Given the description of an element on the screen output the (x, y) to click on. 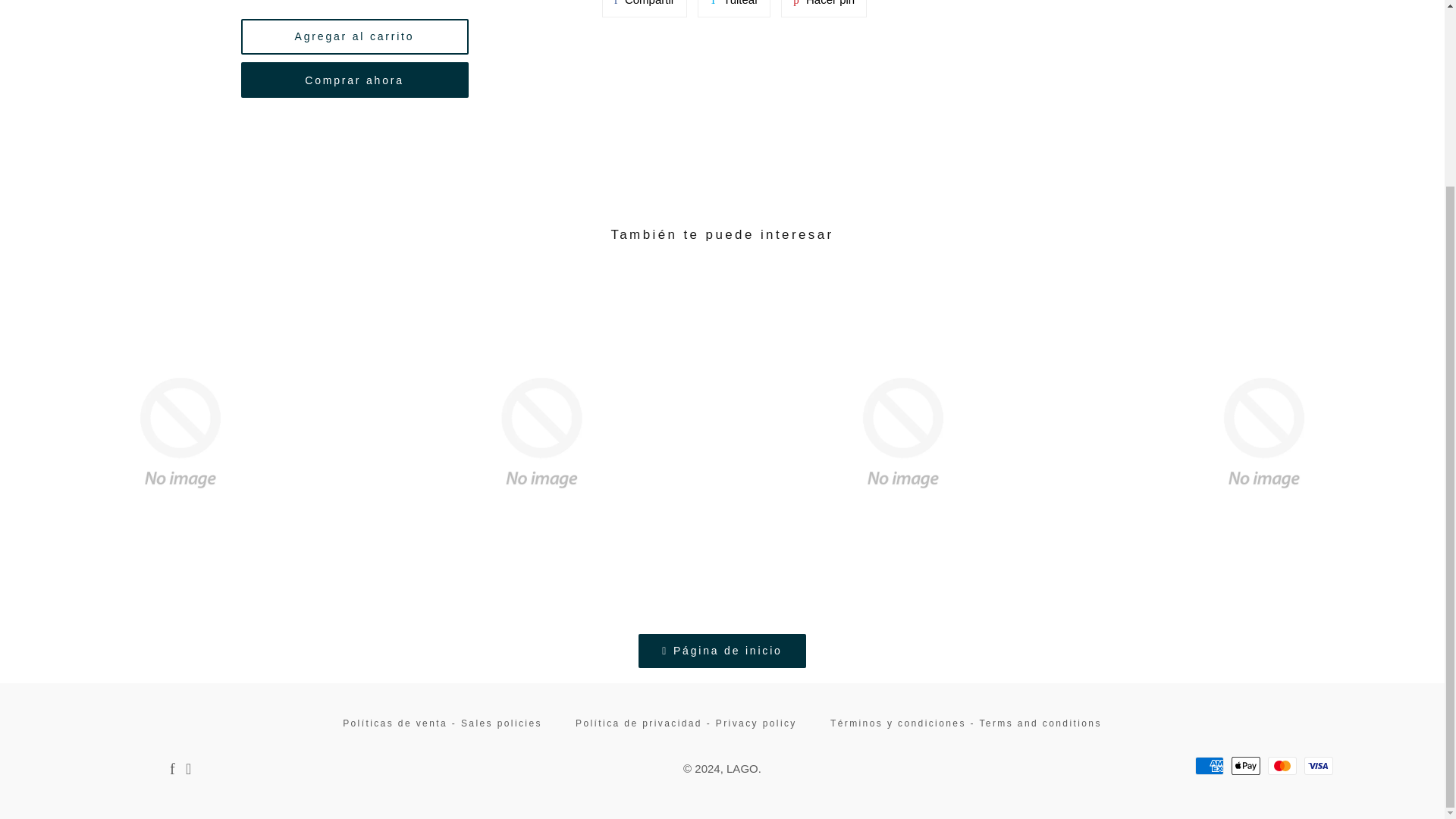
American Express (1209, 765)
Agregar al carrito (823, 8)
Apple Pay (354, 36)
Tuitear en Twitter (1245, 765)
Visa (733, 8)
Comprar ahora (1318, 765)
Compartir en Facebook (354, 79)
Pinear en Pinterest (733, 8)
LAGO (644, 8)
Mastercard (644, 8)
